Given the description of an element on the screen output the (x, y) to click on. 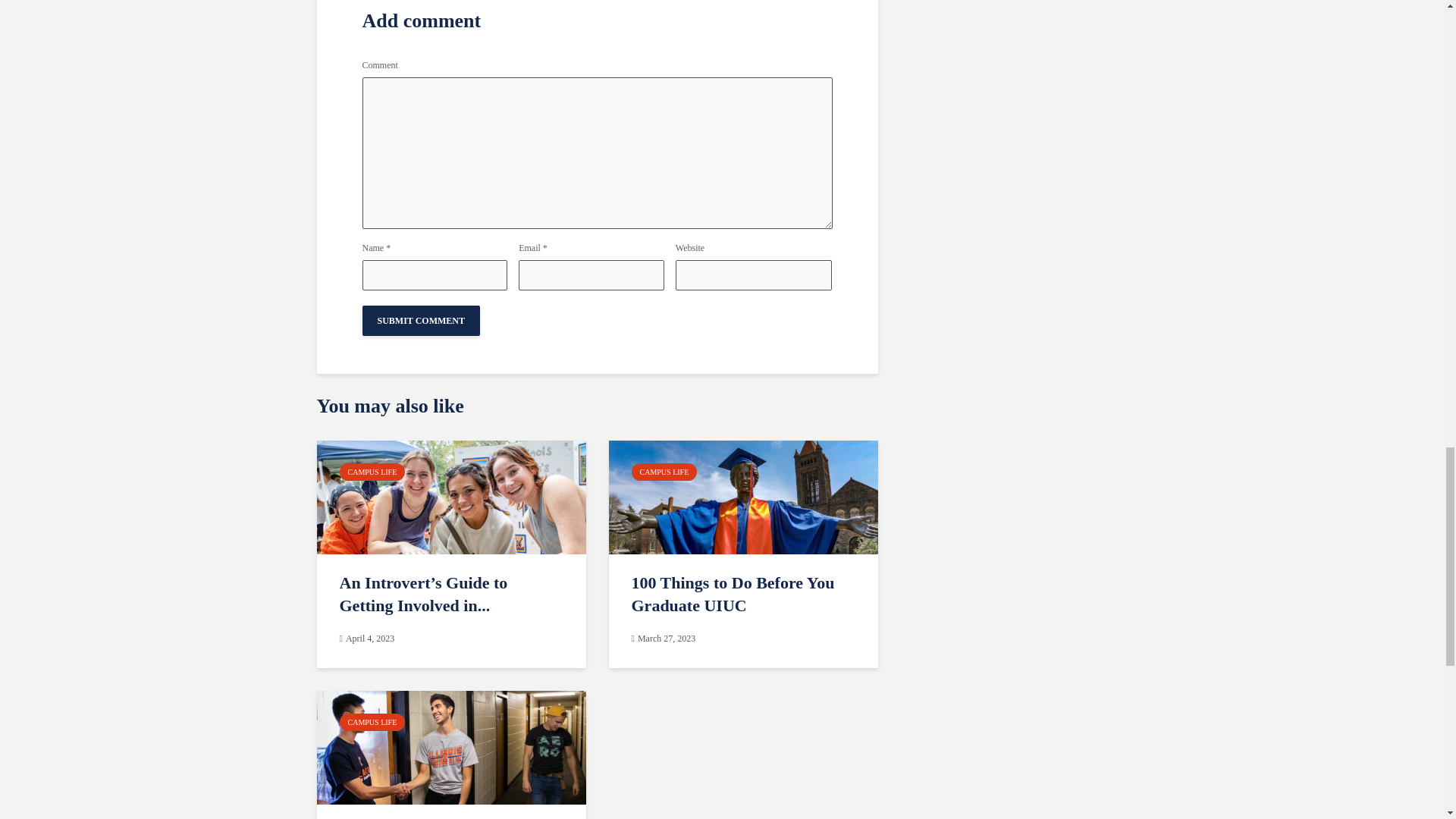
Submit Comment (421, 320)
100 Things to Do Before You Graduate UIUC (742, 495)
100 Things to Do Before You Graduate UIUC (742, 594)
Submit Comment (421, 320)
How to Find a College Roommate (451, 746)
CAMPUS LIFE (372, 471)
CAMPUS LIFE (663, 471)
